Given the description of an element on the screen output the (x, y) to click on. 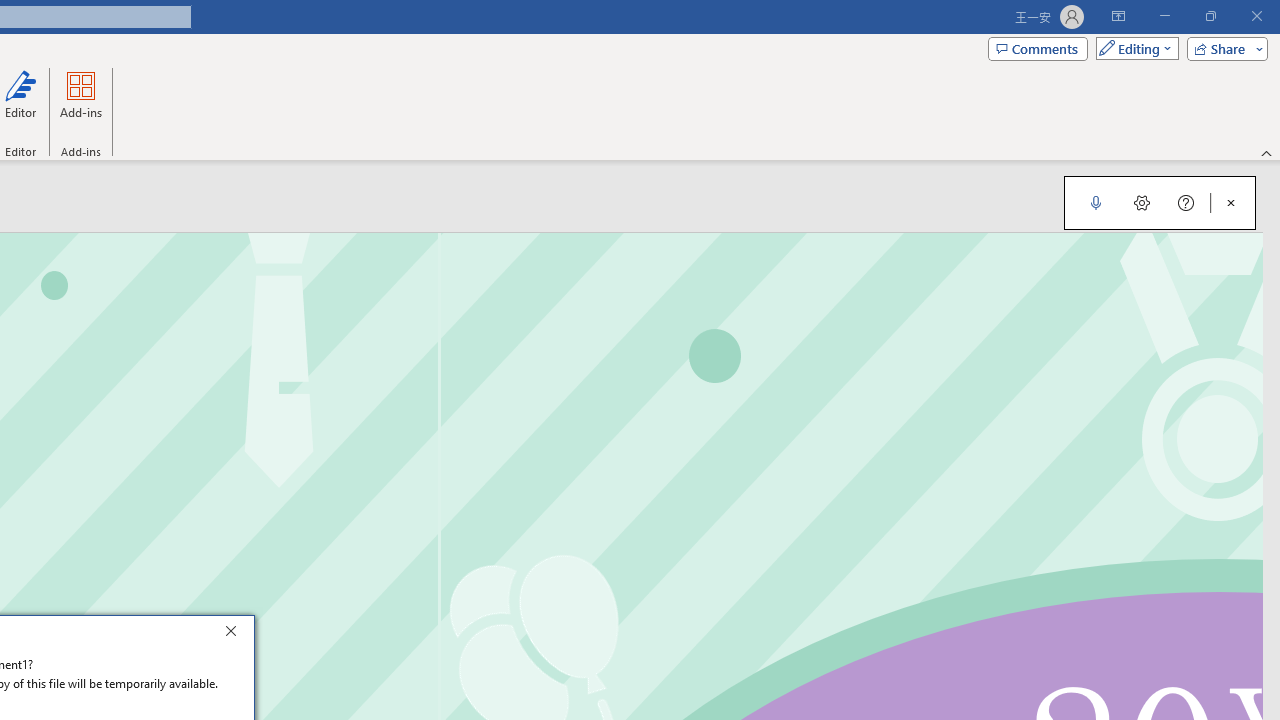
Dictation Settings (1142, 202)
Close Dictation (1231, 202)
Start Dictation (1096, 202)
